Given the description of an element on the screen output the (x, y) to click on. 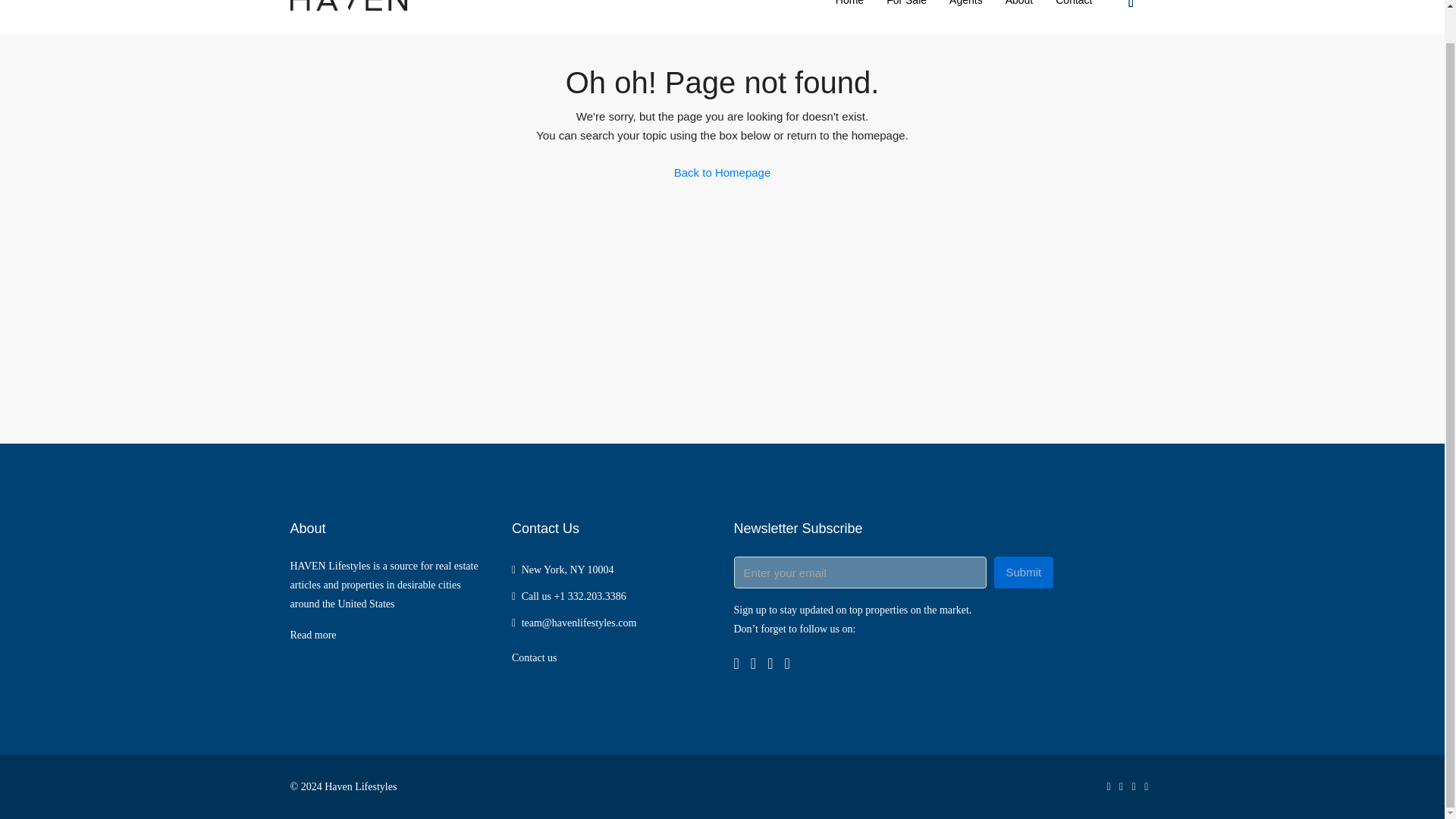
Agents (965, 17)
Contact us (534, 657)
About (1019, 17)
Submit (1022, 572)
Home (849, 17)
Contact (1073, 17)
Read more (312, 634)
Back to Homepage (722, 173)
For Sale (906, 17)
